Given the description of an element on the screen output the (x, y) to click on. 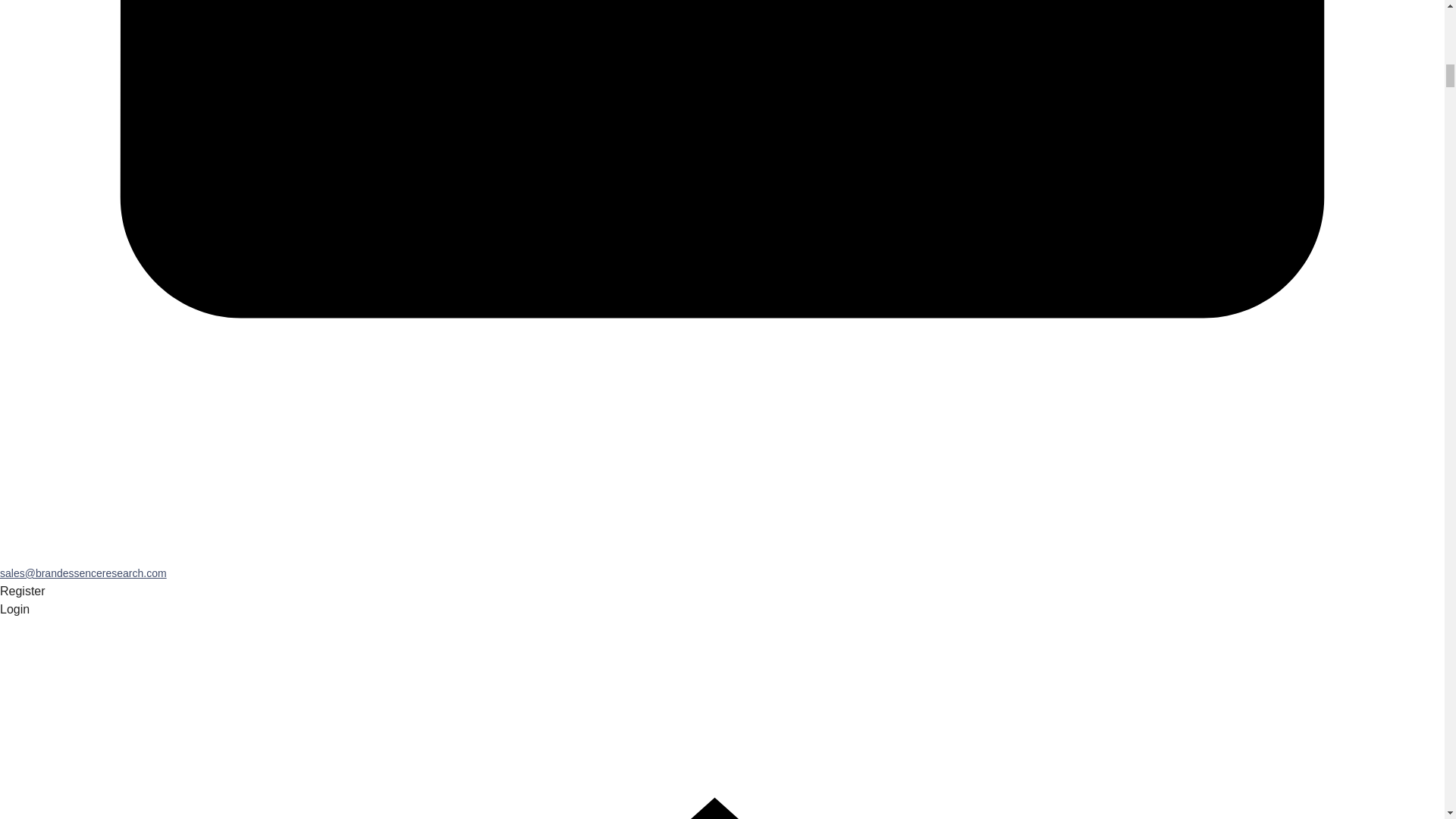
Register (22, 590)
Login (14, 608)
